Given the description of an element on the screen output the (x, y) to click on. 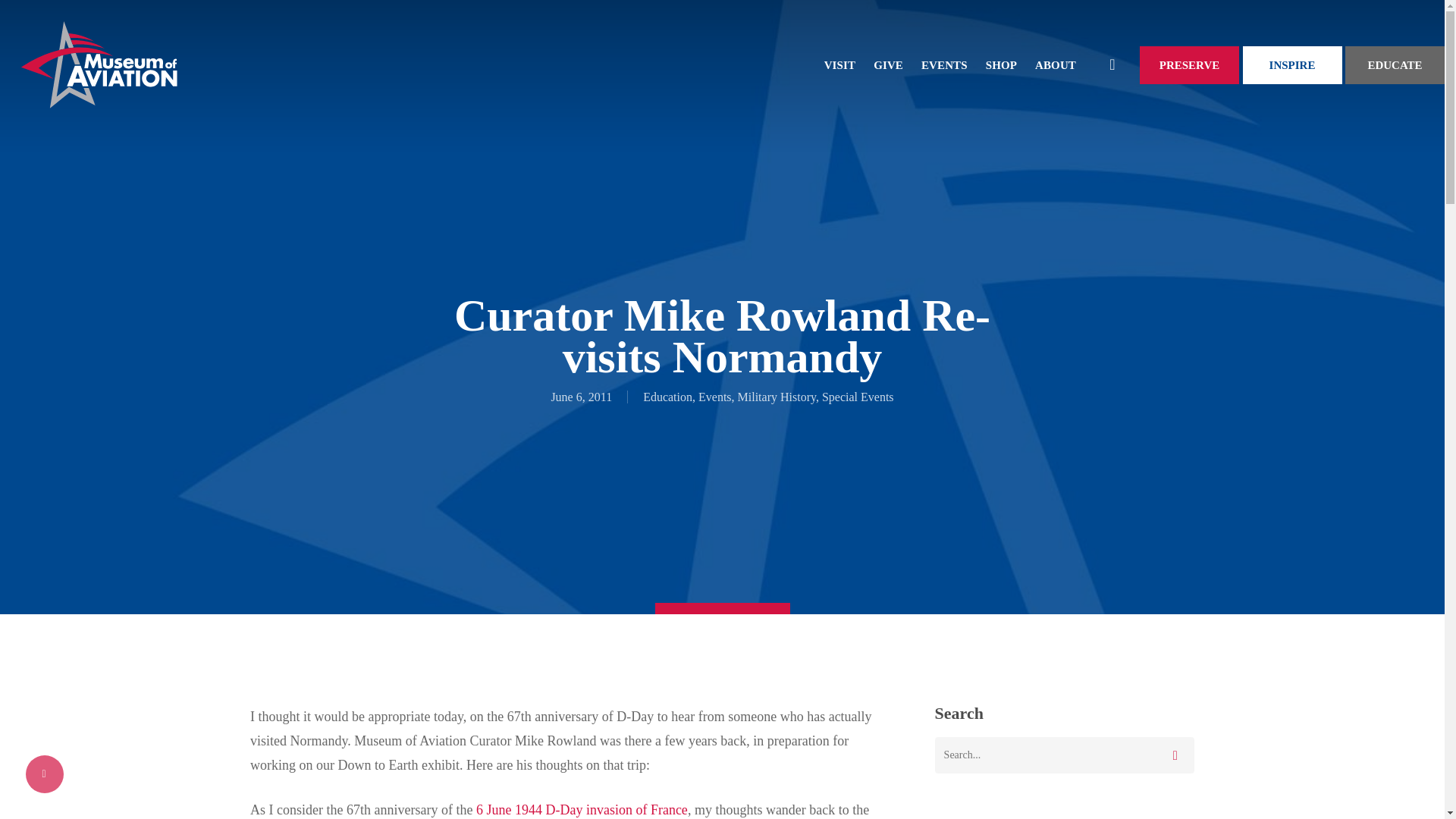
SHOP (1001, 64)
VISIT (839, 64)
EVENTS (944, 64)
GIVE (888, 64)
ABOUT (1055, 64)
Search for: (1063, 755)
